Given the description of an element on the screen output the (x, y) to click on. 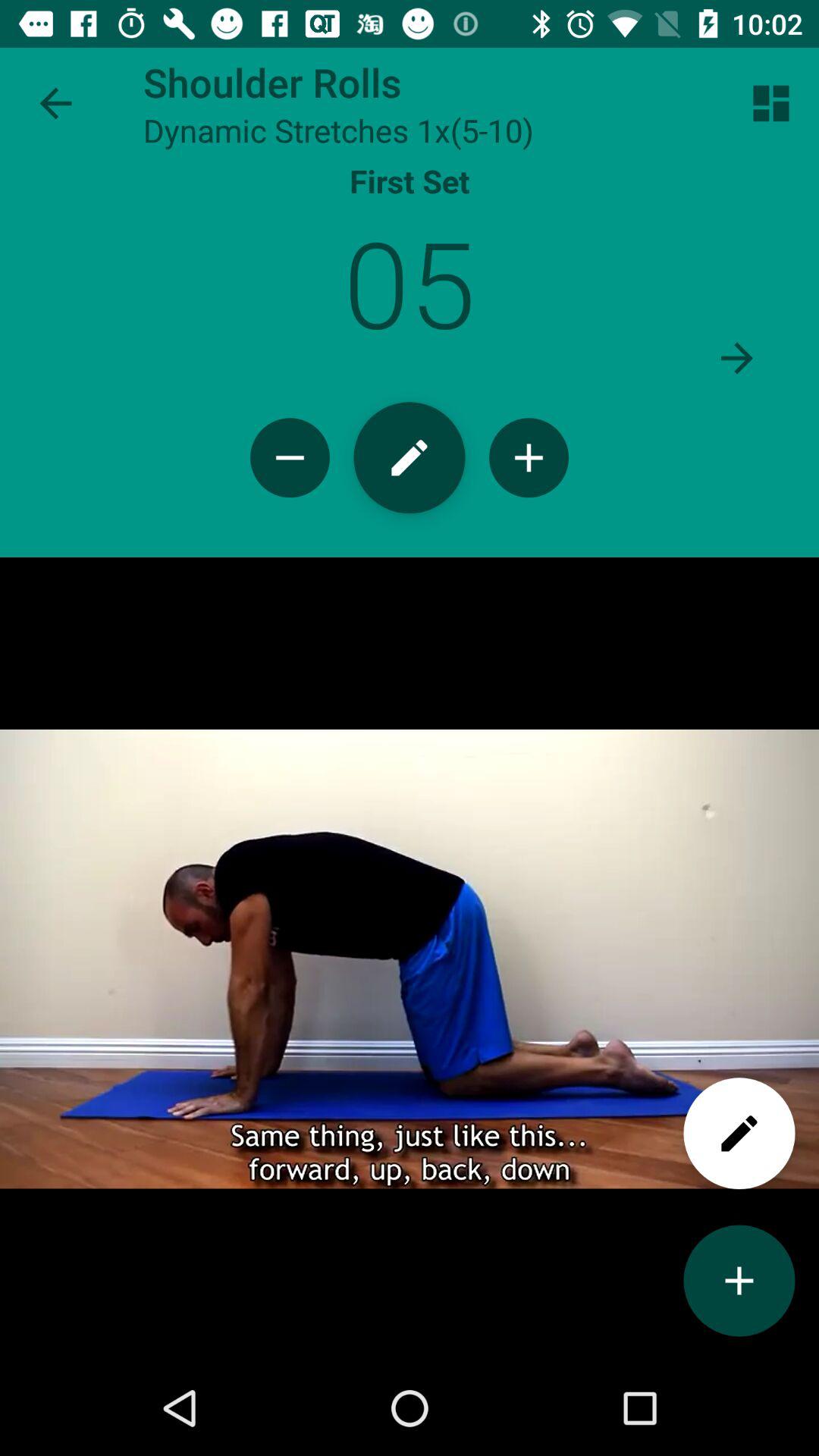
to move next set (737, 358)
